Given the description of an element on the screen output the (x, y) to click on. 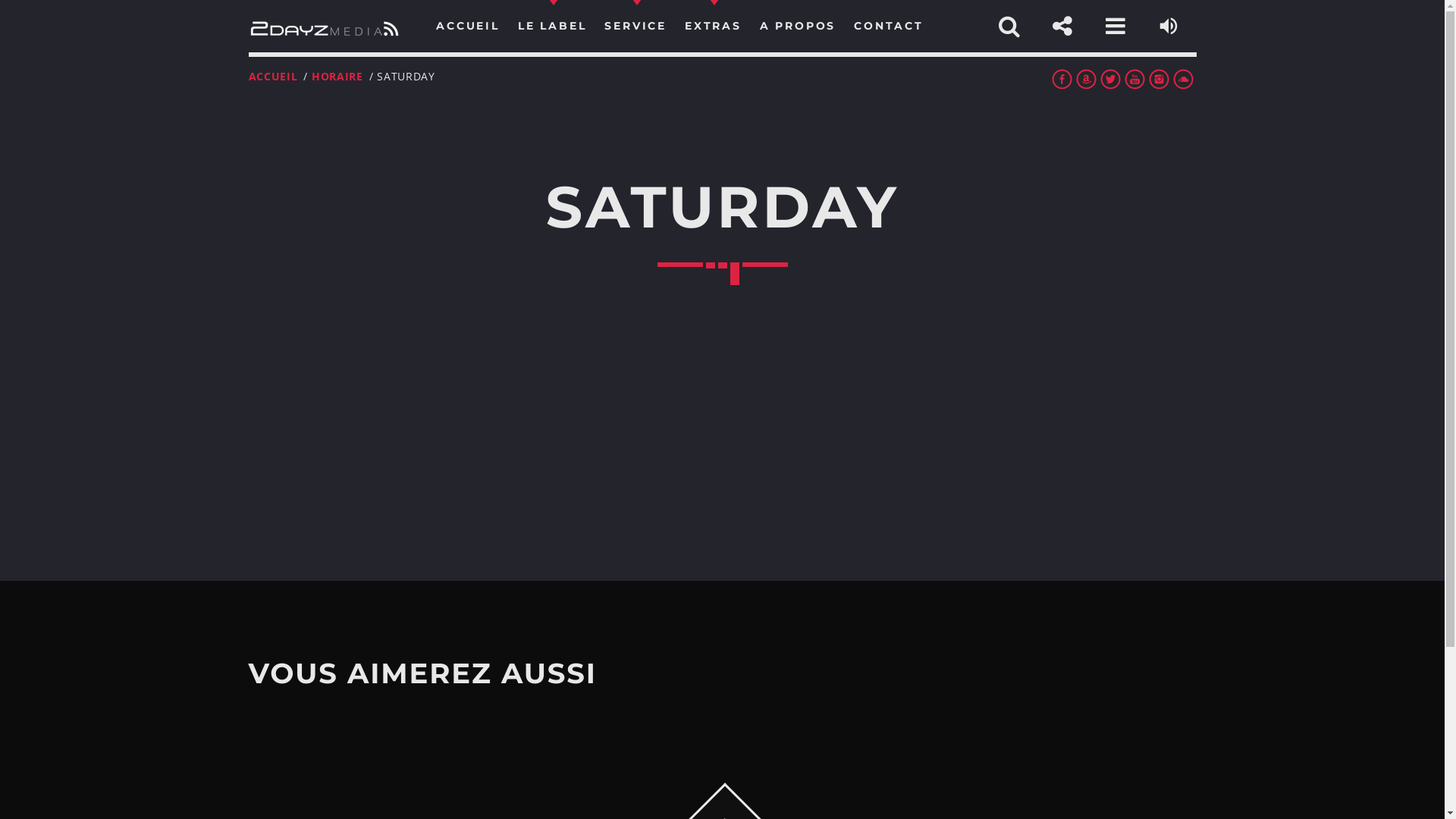
HORAIRE Element type: text (337, 76)
ACCUEIL Element type: text (273, 76)
